Given the description of an element on the screen output the (x, y) to click on. 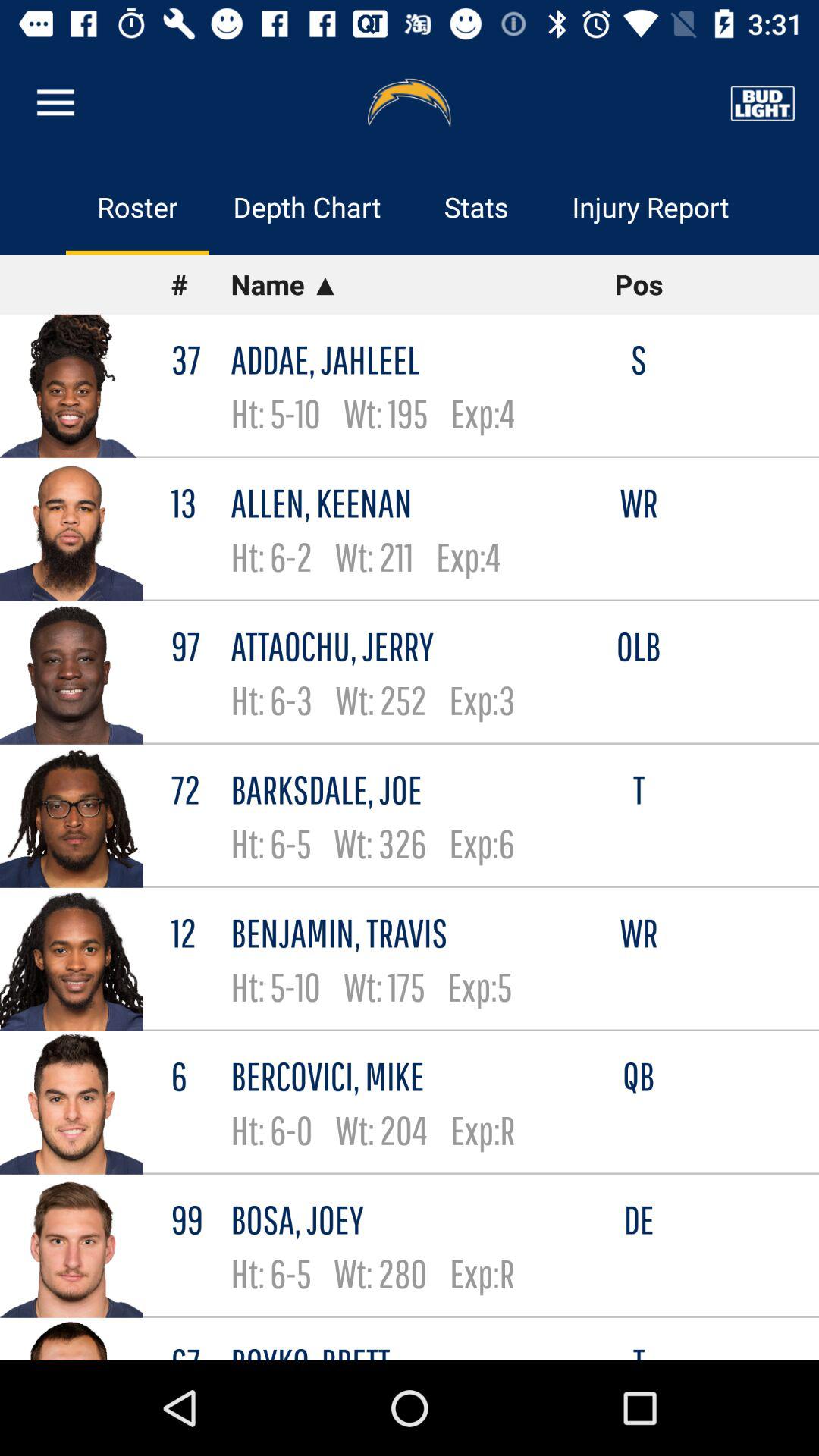
select item above the roster item (55, 103)
